Given the description of an element on the screen output the (x, y) to click on. 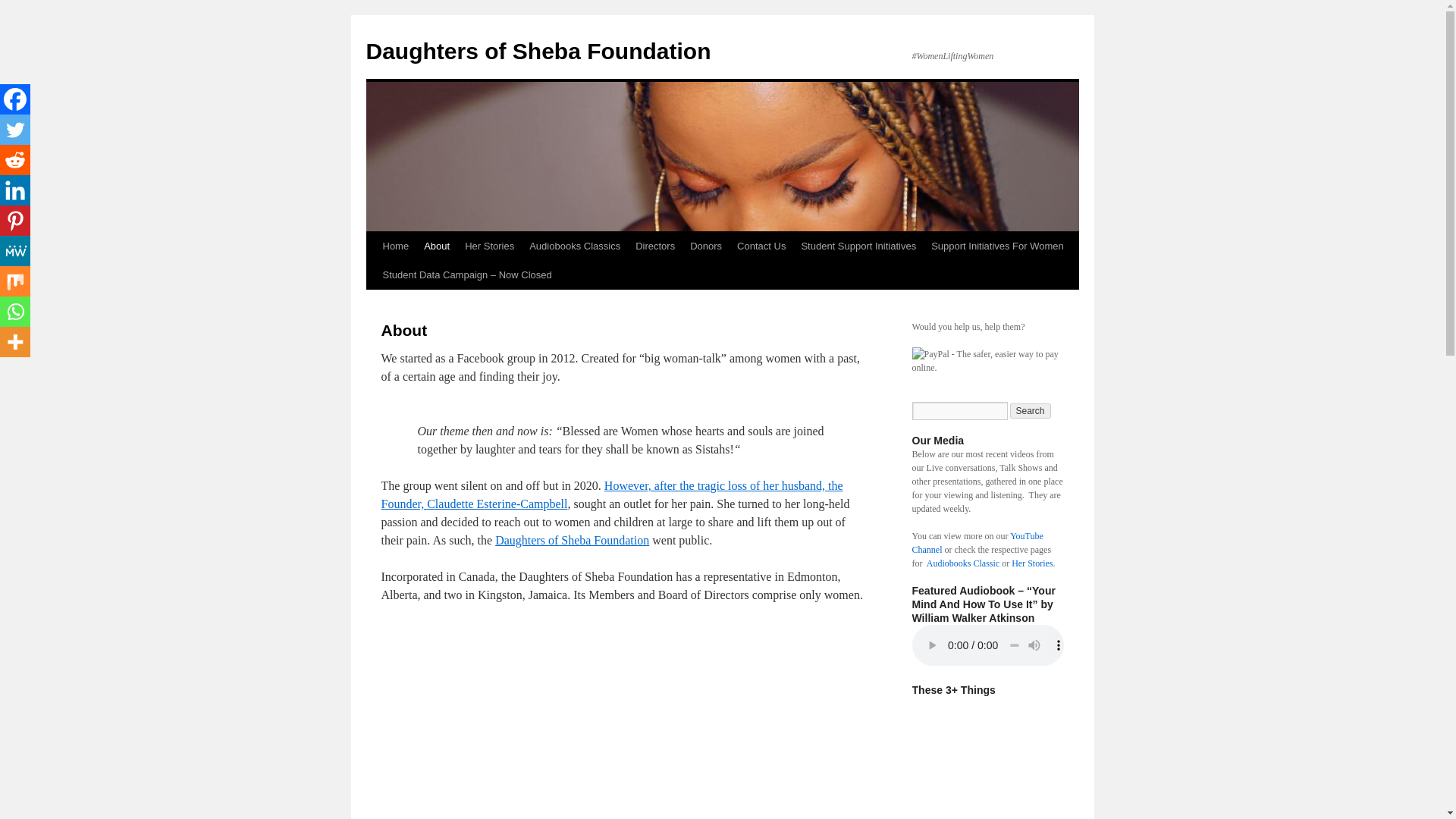
Daughters of Sheba Foundation (537, 50)
Directors (654, 246)
About (436, 246)
Daughters of Sheba Foundation (572, 540)
Search (1030, 410)
Contact Us (761, 246)
Donors (705, 246)
YouTube video player (592, 720)
Support Initiatives For Women (997, 246)
